Given the description of an element on the screen output the (x, y) to click on. 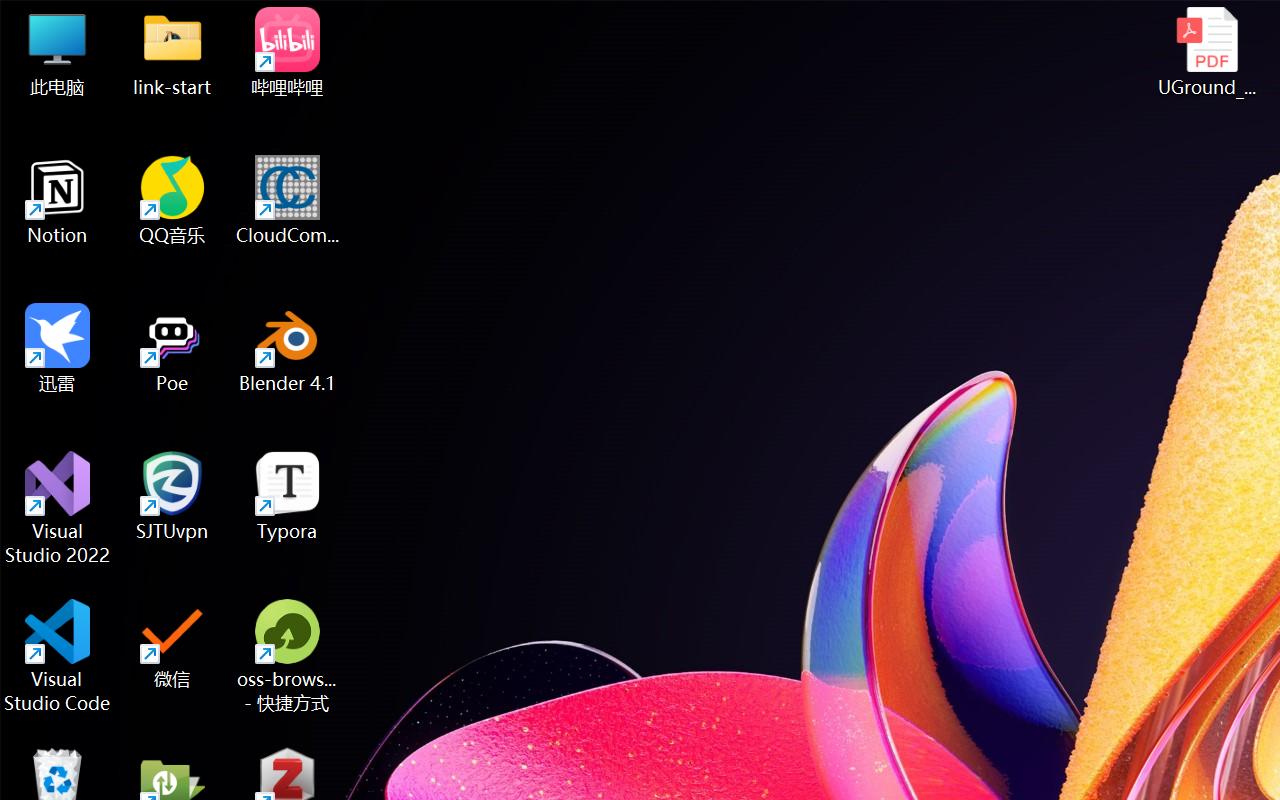
Visual Studio 2022 (57, 508)
UGround_paper.pdf (1206, 52)
Typora (287, 496)
Visual Studio Code (57, 656)
Blender 4.1 (287, 348)
CloudCompare (287, 200)
